Given the description of an element on the screen output the (x, y) to click on. 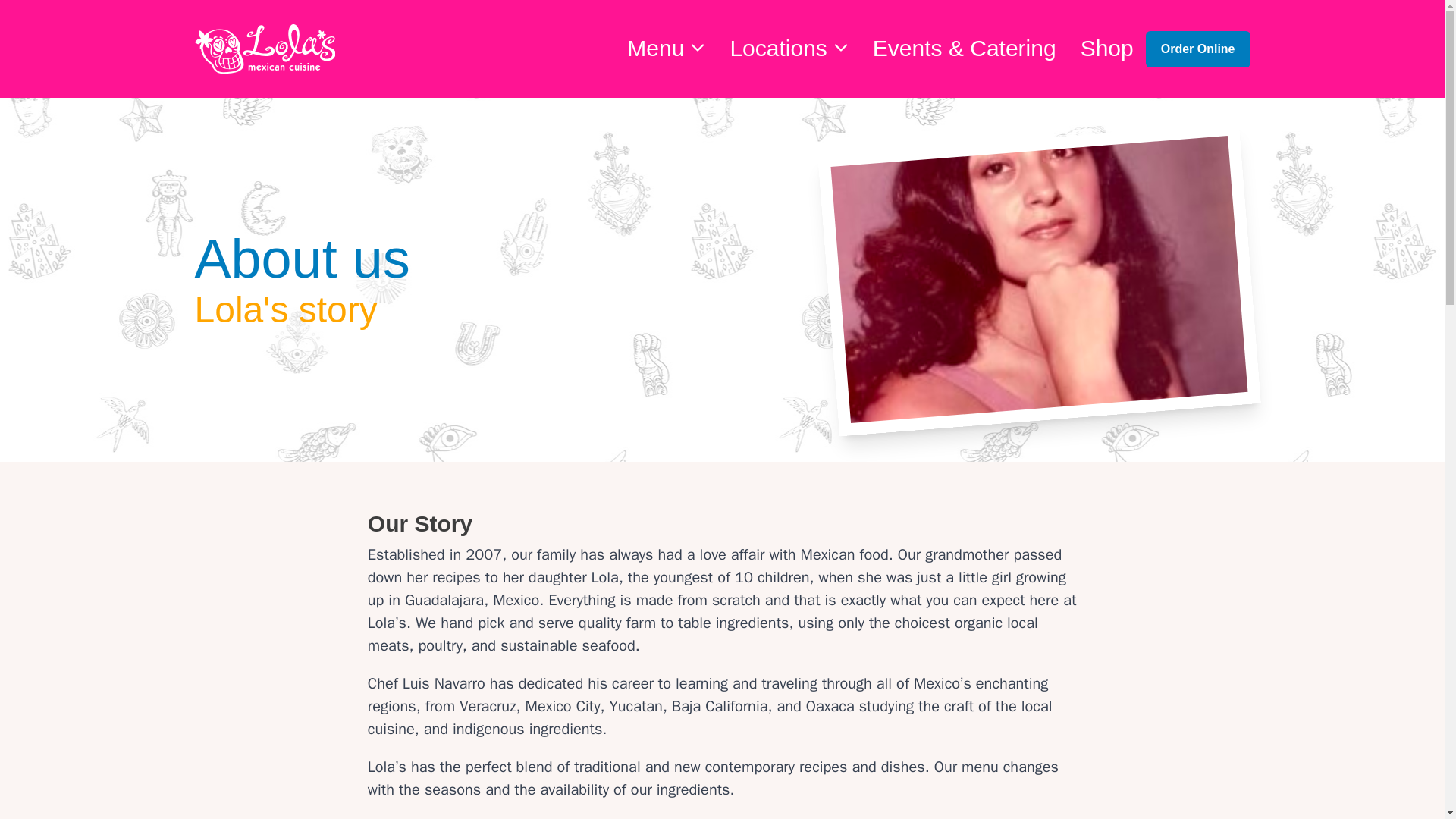
Order Online (1197, 48)
Locations (788, 45)
Menu (665, 45)
Shop (1106, 45)
